Given the description of an element on the screen output the (x, y) to click on. 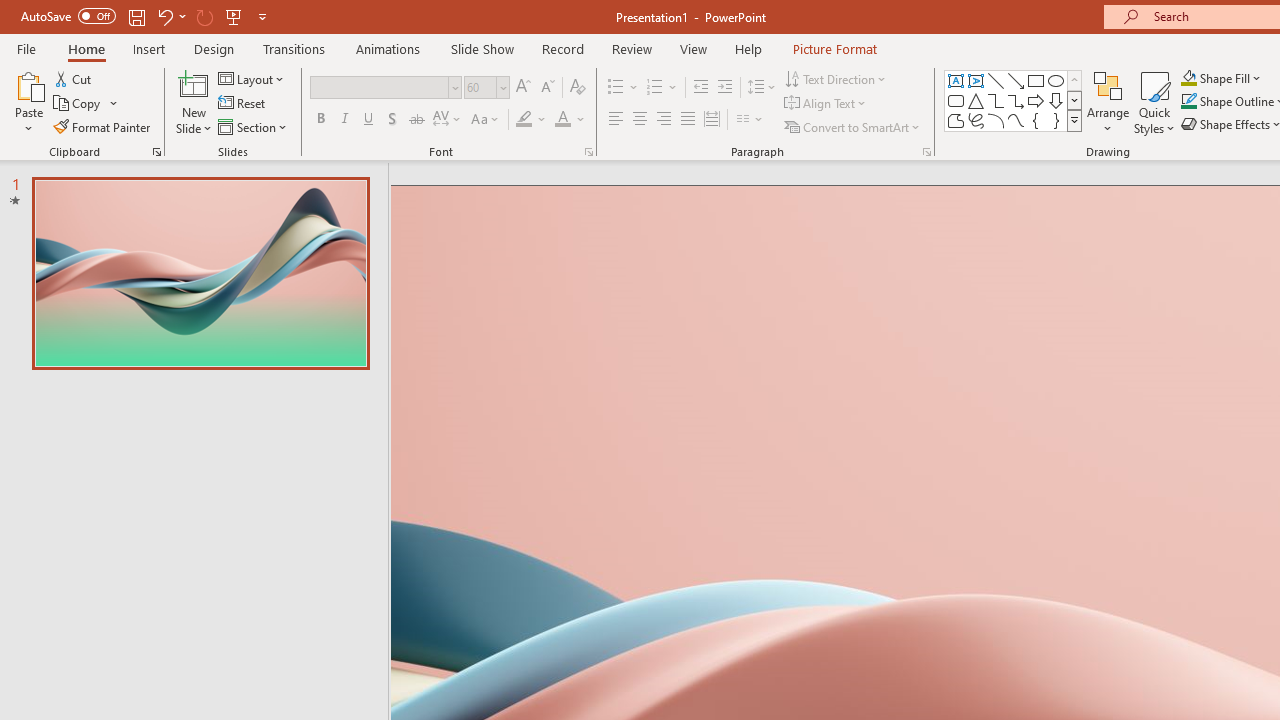
Picture Format (834, 48)
